Given the description of an element on the screen output the (x, y) to click on. 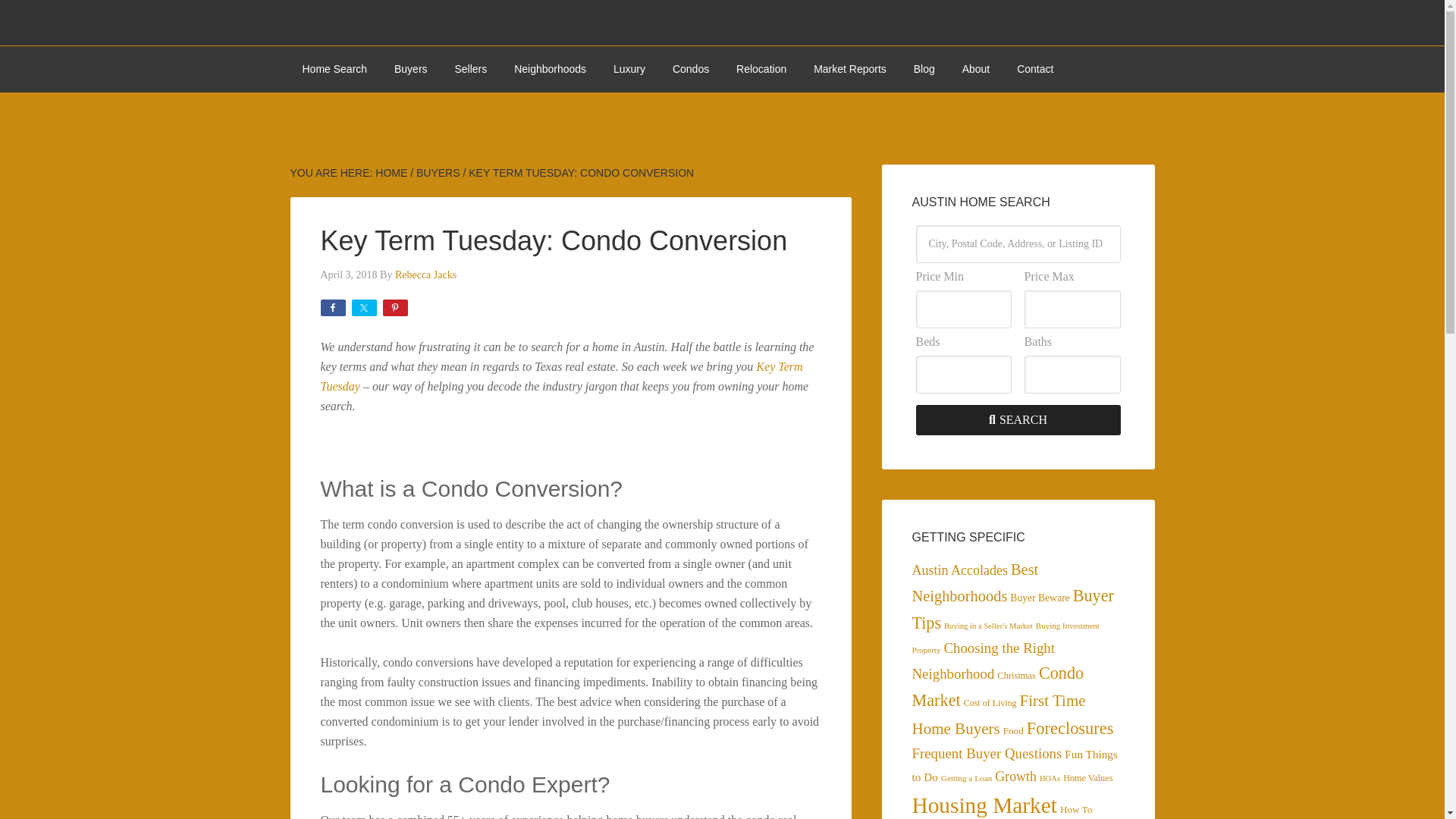
SEARCH (1018, 419)
Sellers (470, 68)
Austin Home Buyers (410, 68)
Christmas (1016, 675)
Buying Investment Property (1005, 637)
Buyer Tips (1012, 609)
BUYERS (438, 173)
Best Neighborhoods (974, 582)
Key Term Tuesday (561, 376)
Blog (924, 68)
Blog (924, 68)
Neighborhoods (550, 68)
Condos (690, 68)
Relocation (760, 68)
Buying in a Seller's Market (987, 625)
